Given the description of an element on the screen output the (x, y) to click on. 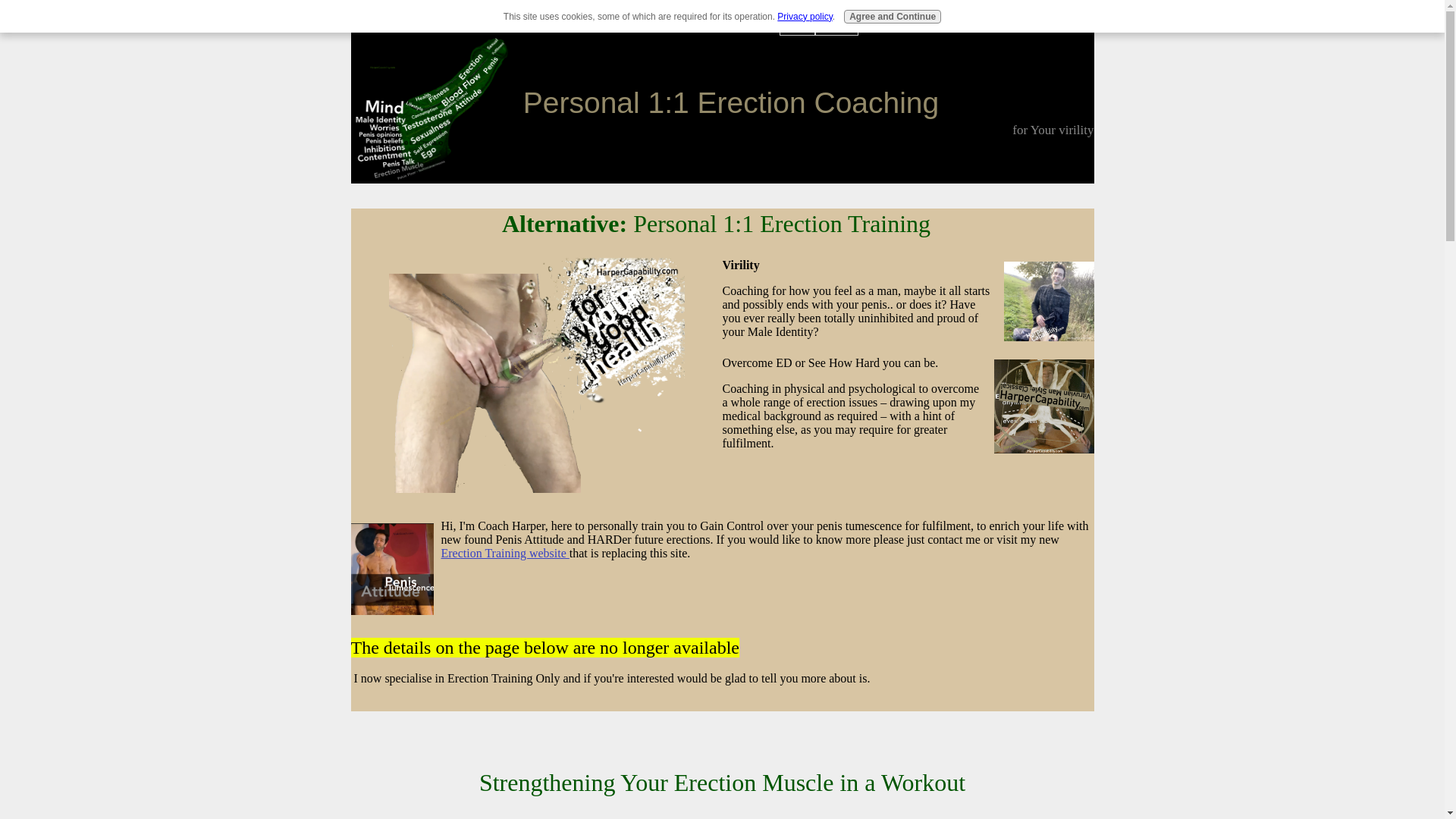
Personal 1:1 Erection Coaching (730, 102)
Privacy policy (804, 16)
Home (795, 25)
Erection Training website (505, 553)
Contact (837, 25)
champagne bottle in place of mans erection, fizzing (536, 375)
Agree and Continue (892, 16)
erection is visible under clothes due to transparency (1042, 405)
